Given the description of an element on the screen output the (x, y) to click on. 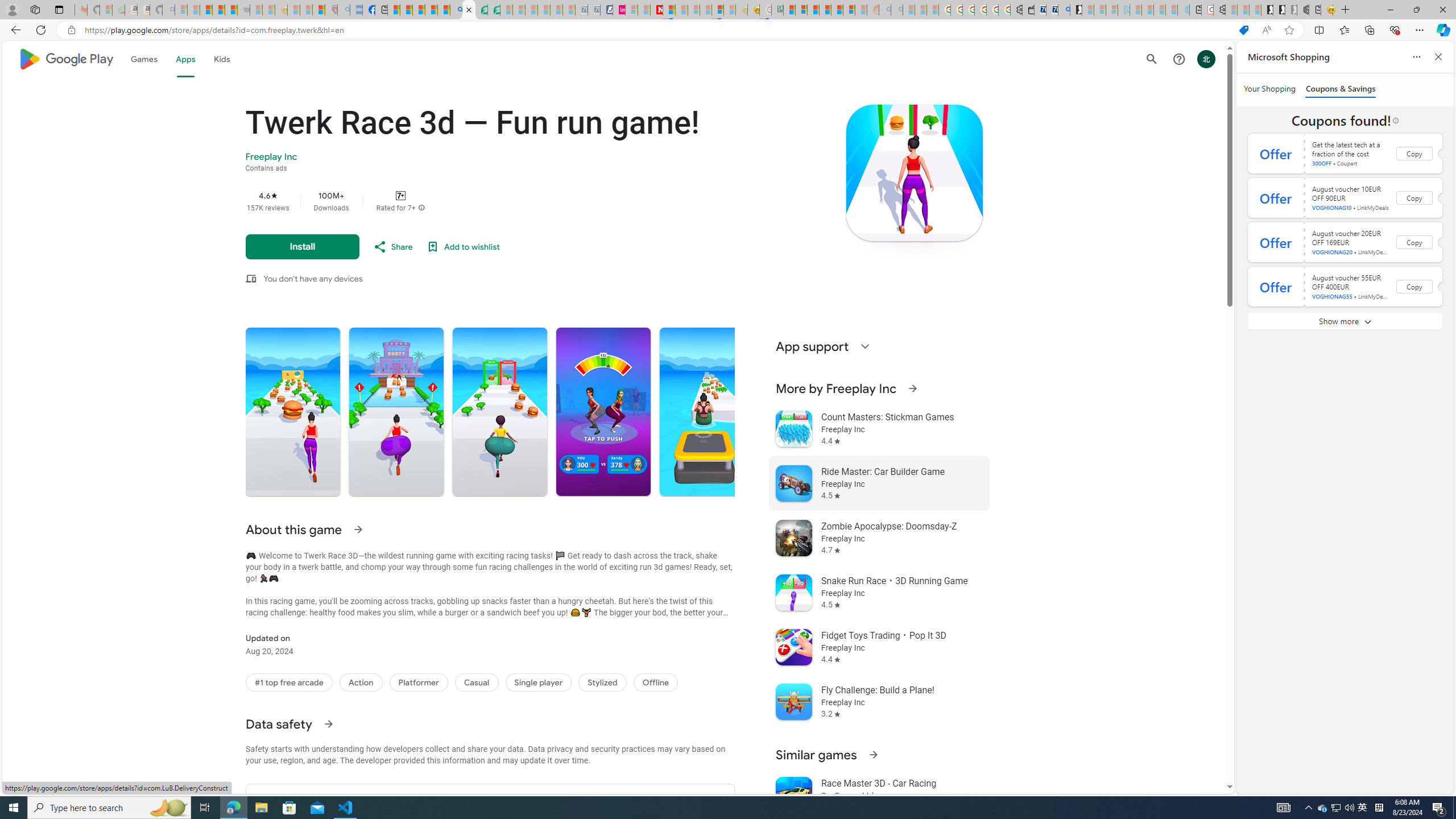
Jobs - lastminute.com Investor Portal (619, 9)
Platformer (418, 682)
Games (142, 58)
Expand (864, 346)
Single player (538, 682)
More info about this content rating (421, 207)
